Given the description of an element on the screen output the (x, y) to click on. 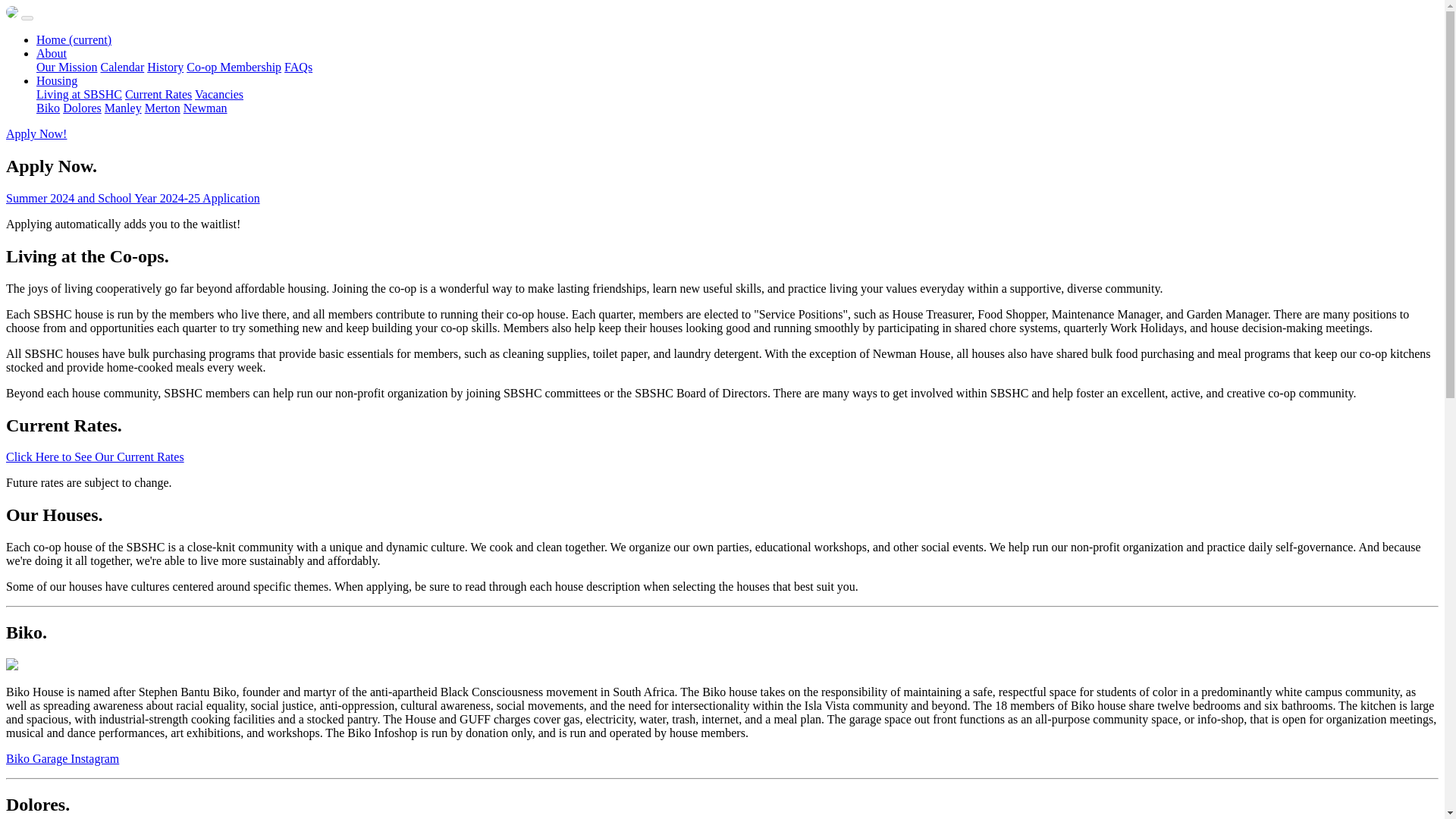
Biko (47, 107)
Dolores (81, 107)
FAQs (298, 66)
Manley (122, 107)
History (165, 66)
Our Mission (66, 66)
Housing (56, 80)
Newman (205, 107)
Living at SBSHC (79, 93)
Calendar (122, 66)
Biko Garage Instagram (62, 758)
About (51, 52)
Vacancies (219, 93)
Apply Now! (35, 133)
Merton (162, 107)
